Given the description of an element on the screen output the (x, y) to click on. 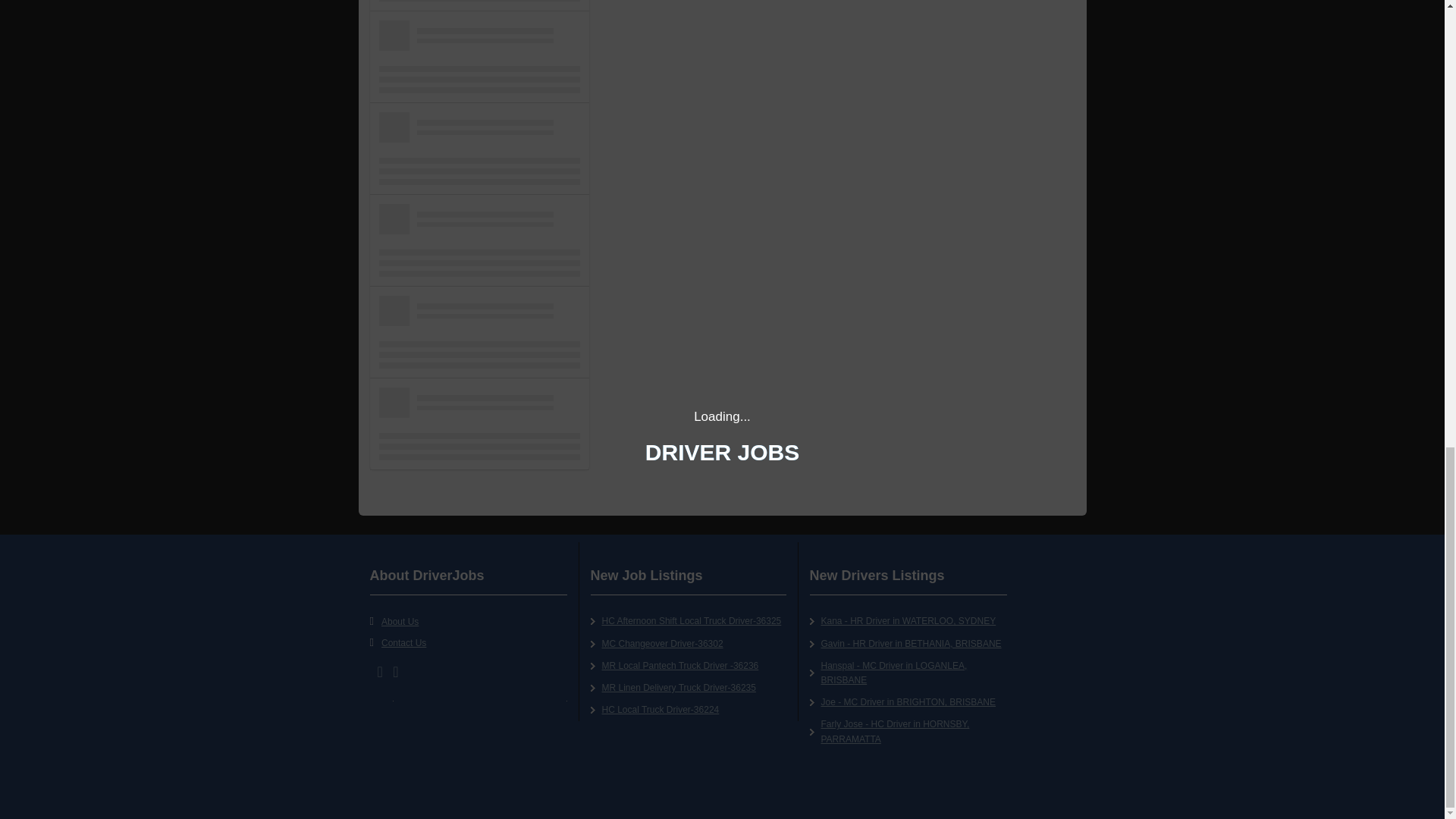
MR Local Pantech Truck Driver -36236 (680, 665)
MC Changeover Driver-36302 (662, 643)
HC Afternoon Shift Local Truck Driver-36325 (691, 620)
MR Linen Delivery Truck Driver-36235 (678, 687)
HC Local Truck Driver-36224 (660, 709)
